Given the description of an element on the screen output the (x, y) to click on. 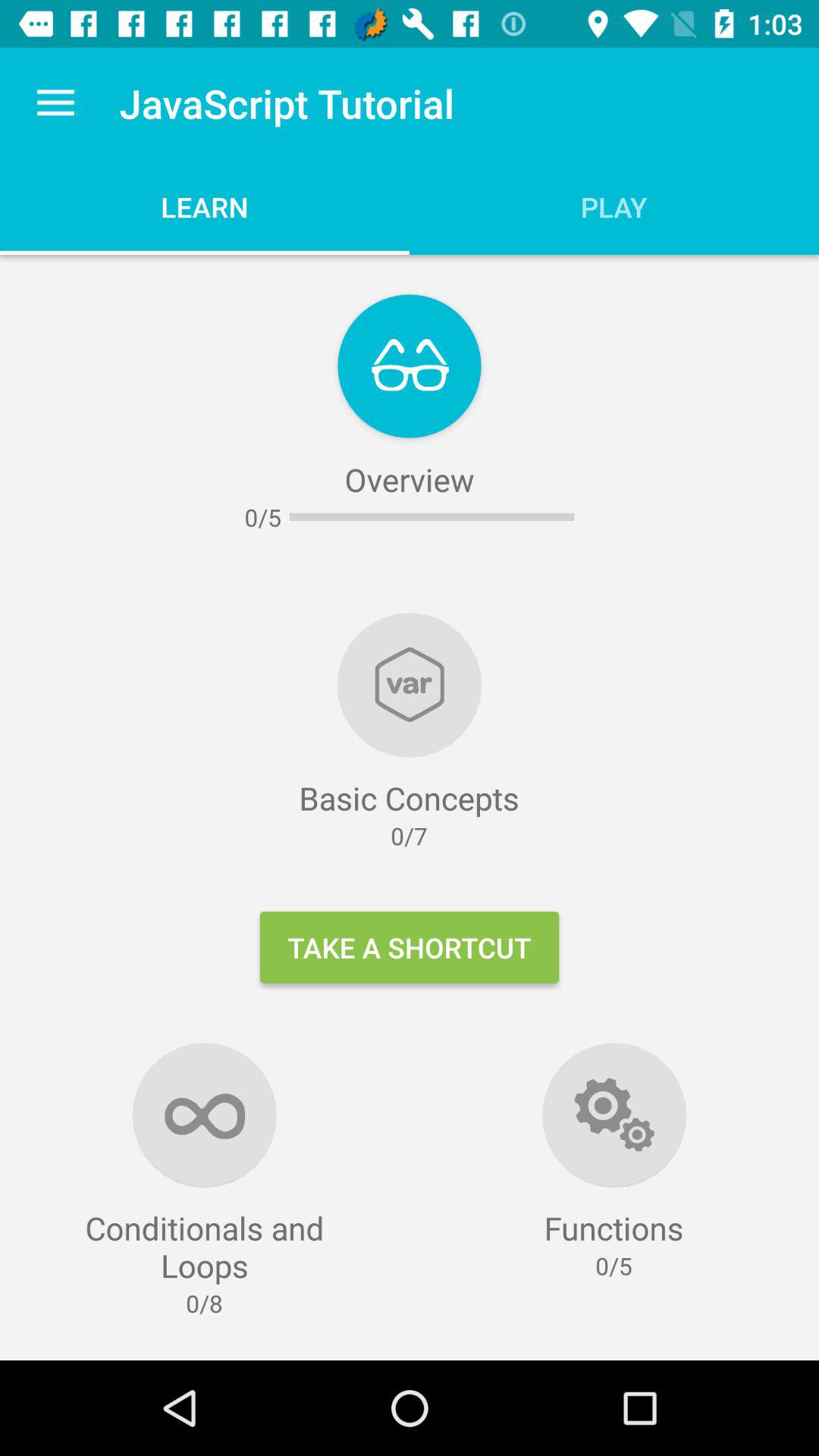
launch item below the 0/7 icon (409, 947)
